Given the description of an element on the screen output the (x, y) to click on. 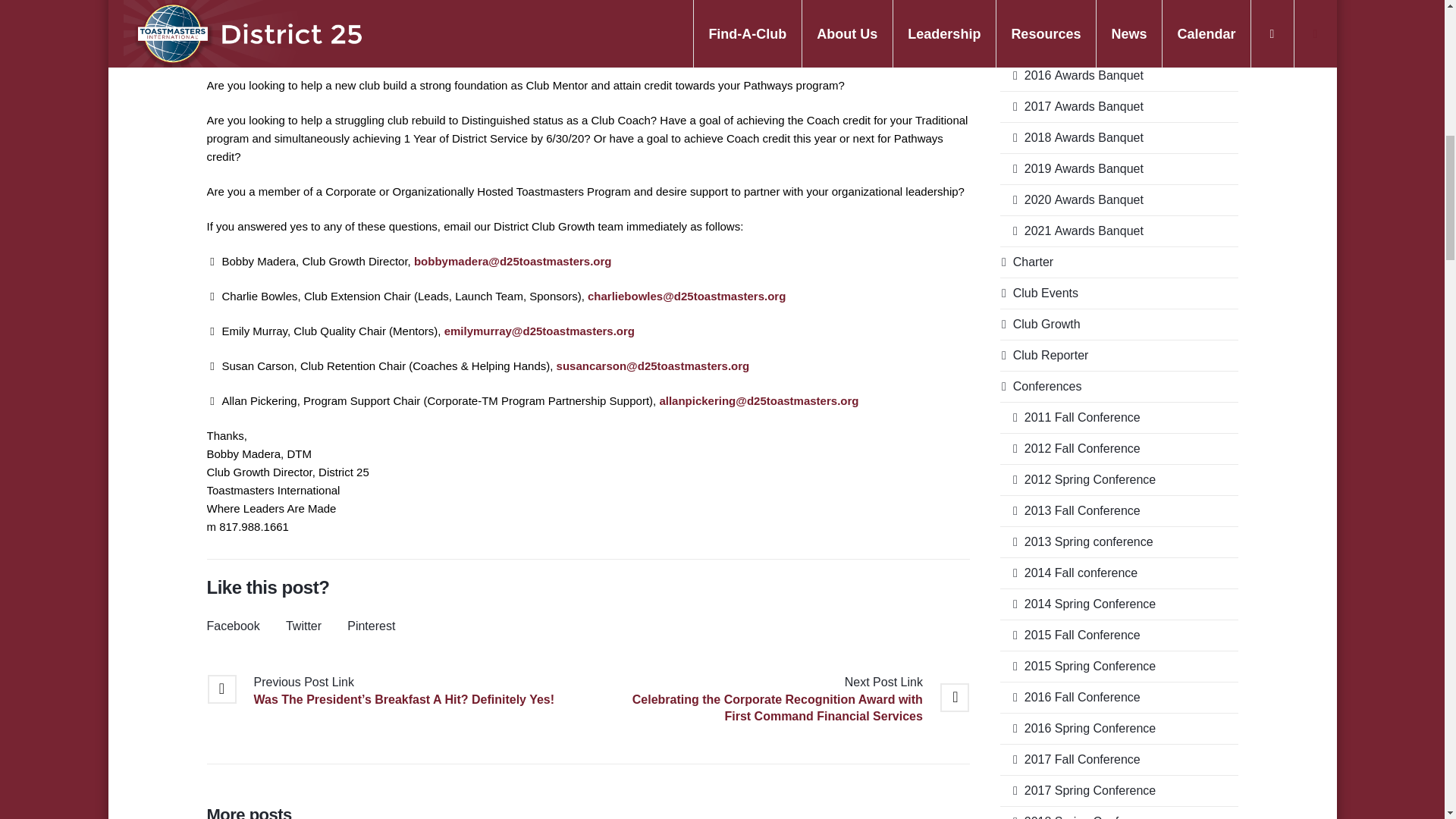
Twitter (303, 625)
Pinterest (370, 625)
Facebook (232, 625)
2014 Awards Banquet (1071, 14)
